Given the description of an element on the screen output the (x, y) to click on. 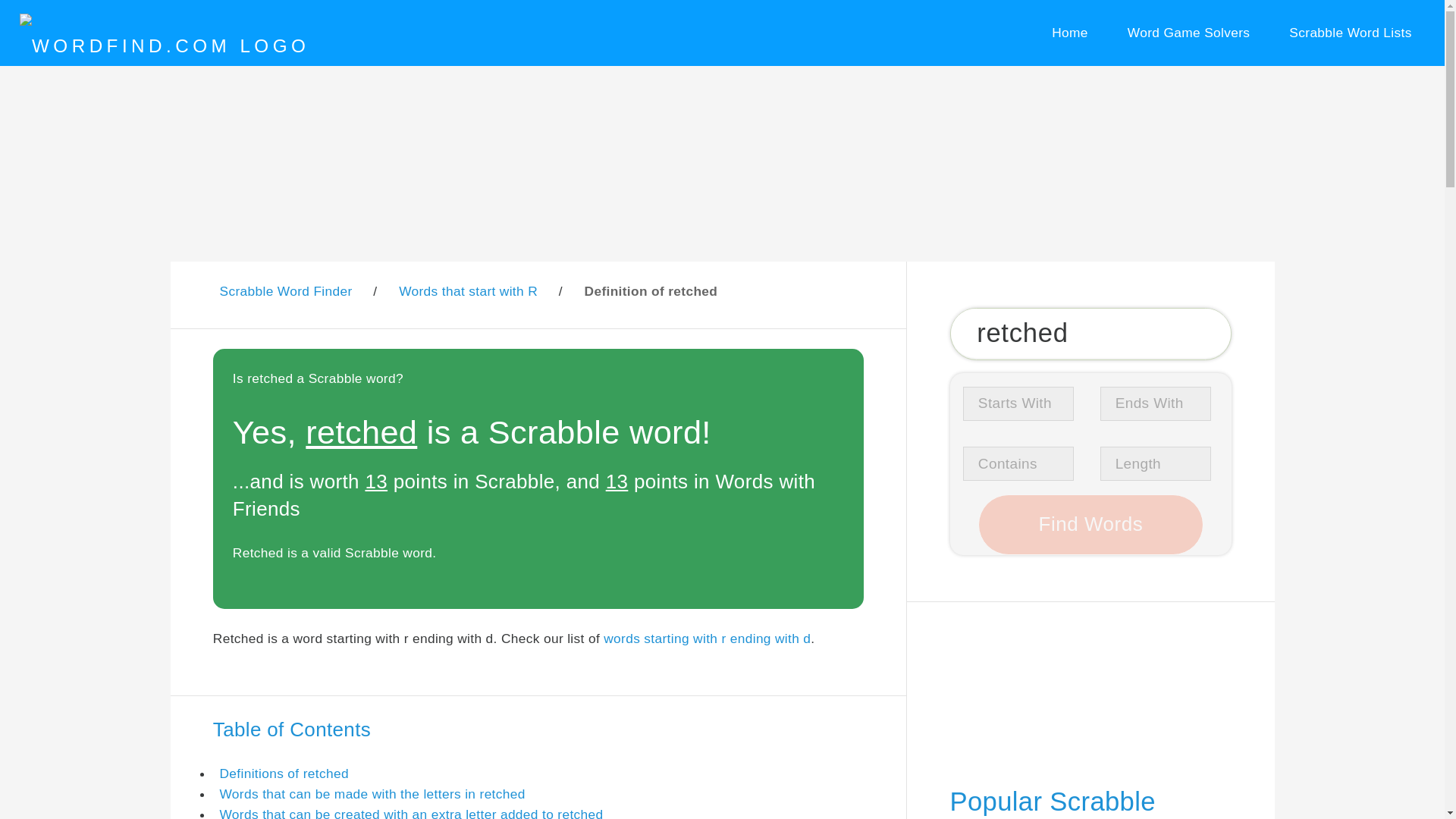
Scrabble Word Lists menu (1350, 33)
Definitions of retched (283, 773)
Return Home (1069, 33)
Scrabble Word Finder (285, 290)
Scrabble Word Lists (1350, 33)
Return Home to Wordfind.com (164, 46)
Word Game Solvers (1187, 33)
wordfind.com logo (164, 46)
retched (1090, 333)
Home (1069, 33)
words starting with r ending with d (707, 638)
Word Game Solvers menu (1187, 33)
Find Words (1091, 525)
Words that start with R (467, 290)
